Given the description of an element on the screen output the (x, y) to click on. 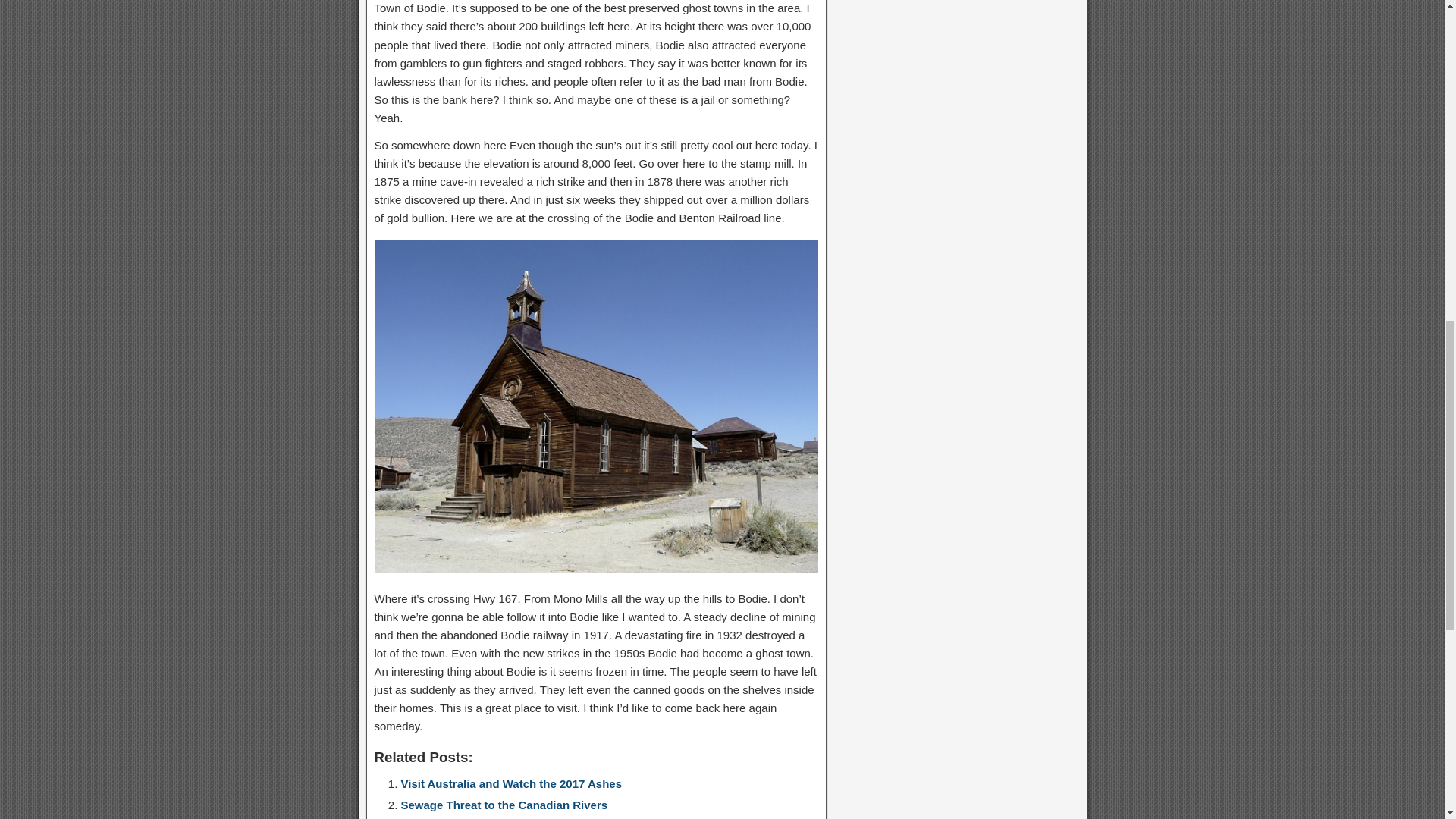
Sewage Threat to the Canadian Rivers (503, 804)
Sewage Threat to the Canadian Rivers (503, 804)
Visit Australia and Watch the 2017 Ashes (510, 783)
Visit Australia and Watch the 2017 Ashes (510, 783)
